Given the description of an element on the screen output the (x, y) to click on. 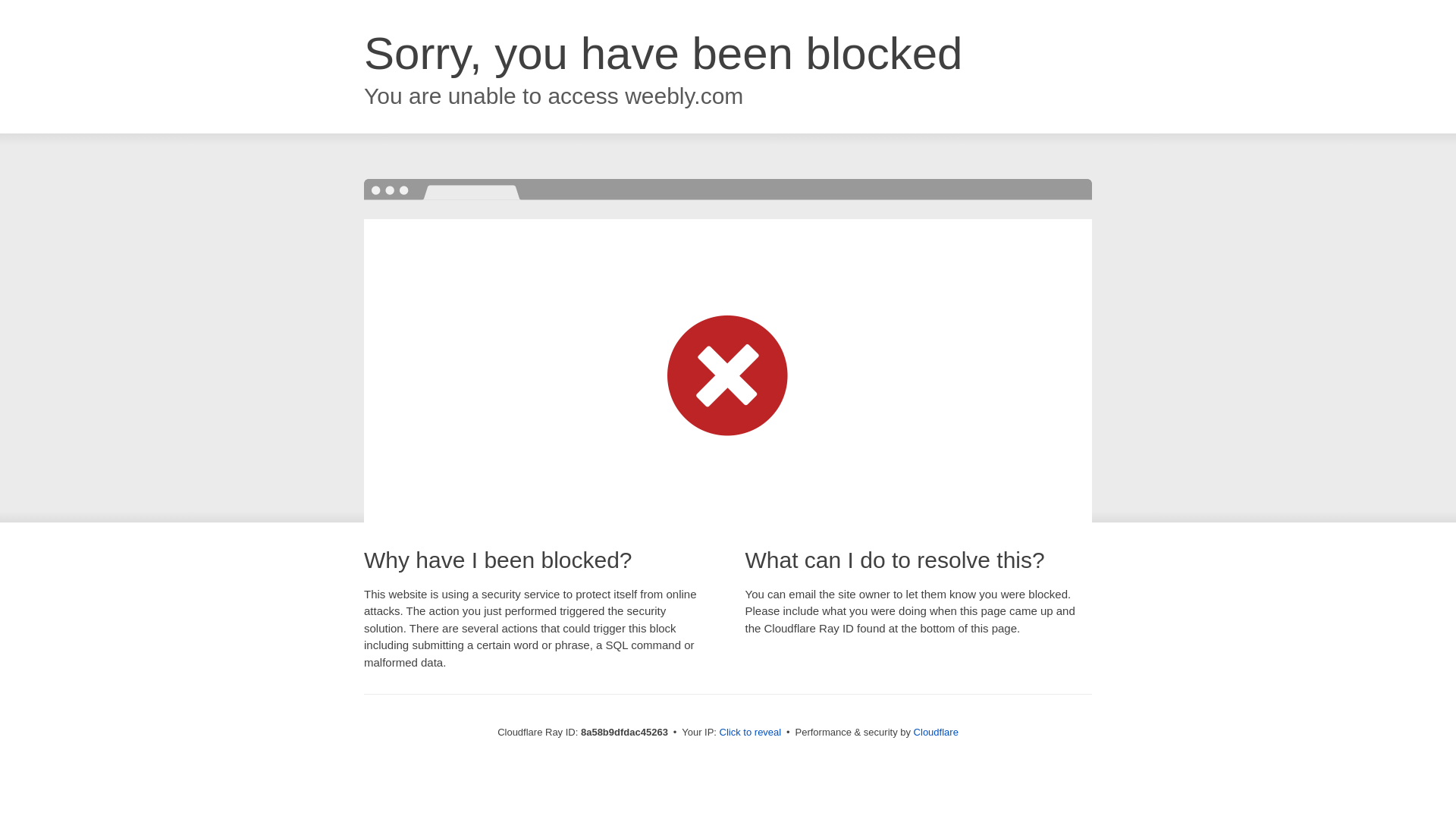
Cloudflare (936, 731)
Click to reveal (750, 732)
